Given the description of an element on the screen output the (x, y) to click on. 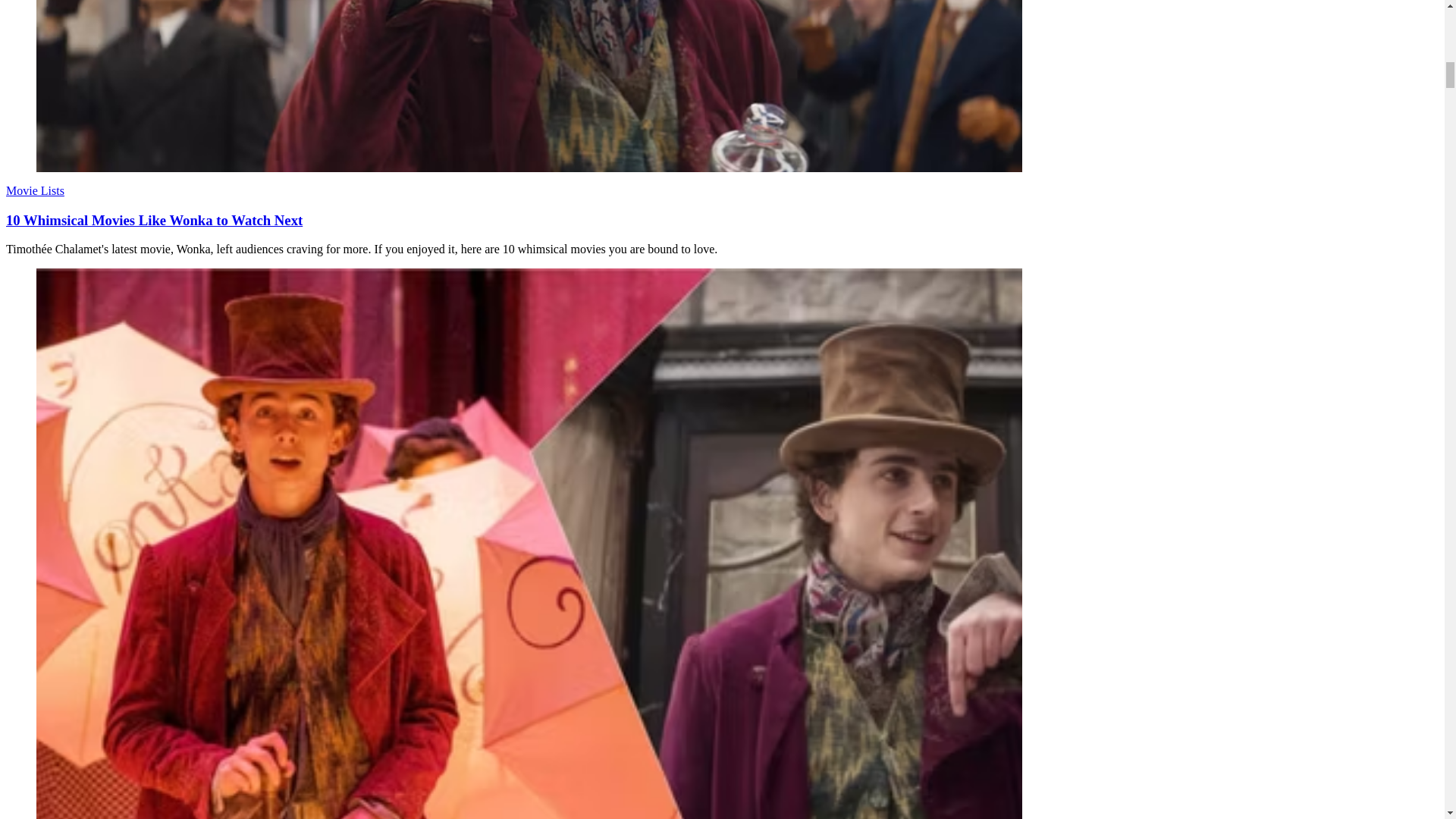
10 Whimsical Movies Like Wonka to Watch Next (153, 220)
